Given the description of an element on the screen output the (x, y) to click on. 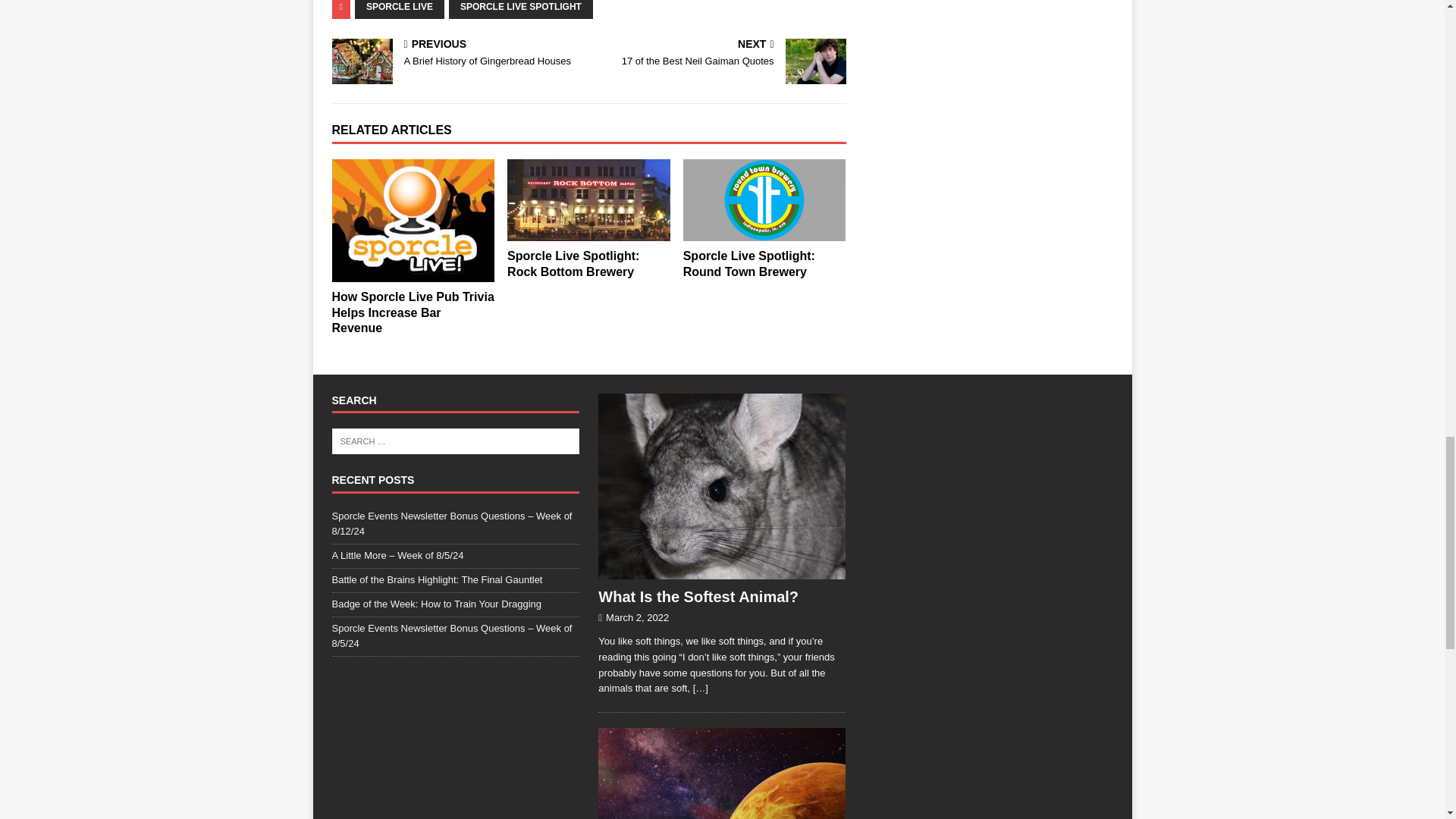
SPORCLE LIVE (399, 9)
How Sporcle Live Pub Trivia Helps Increase Bar Revenue (413, 219)
How Sporcle Live Pub Trivia Helps Increase Bar Revenue (413, 312)
Sporcle Live Spotlight: Rock Bottom Brewery (457, 53)
Sporcle Live Spotlight: Rock Bottom Brewery (572, 263)
SPORCLE LIVE SPOTLIGHT (587, 199)
